Given the description of an element on the screen output the (x, y) to click on. 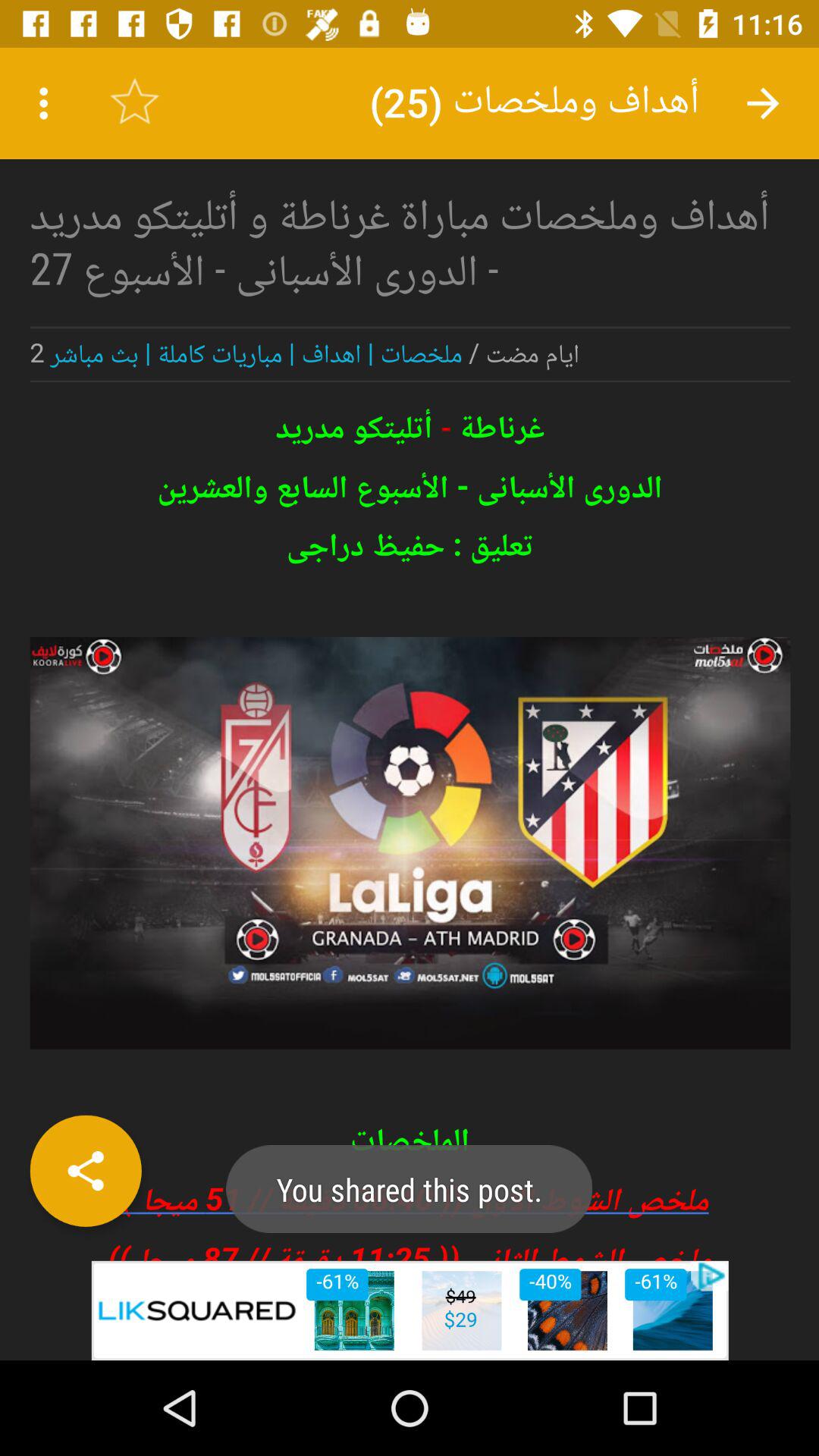
go to advertisement link (409, 1310)
